Given the description of an element on the screen output the (x, y) to click on. 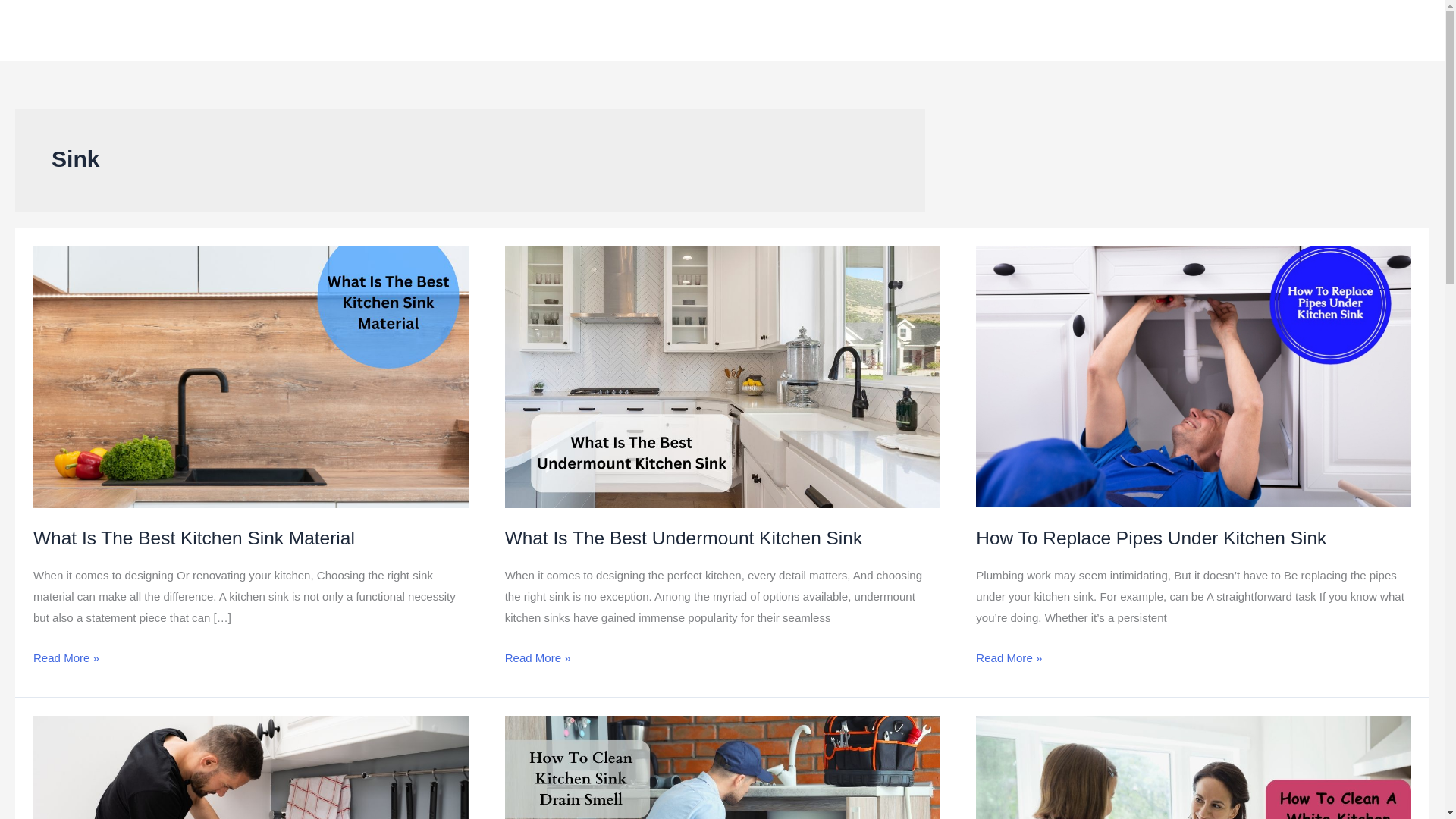
How To Replace Pipes Under Kitchen Sink (1150, 537)
House Arctic (71, 29)
Contact (1364, 30)
Home (1170, 30)
About Us (1238, 30)
What Is The Best Kitchen Sink Material (194, 537)
What Is The Best Undermount Kitchen Sink (683, 537)
